Given the description of an element on the screen output the (x, y) to click on. 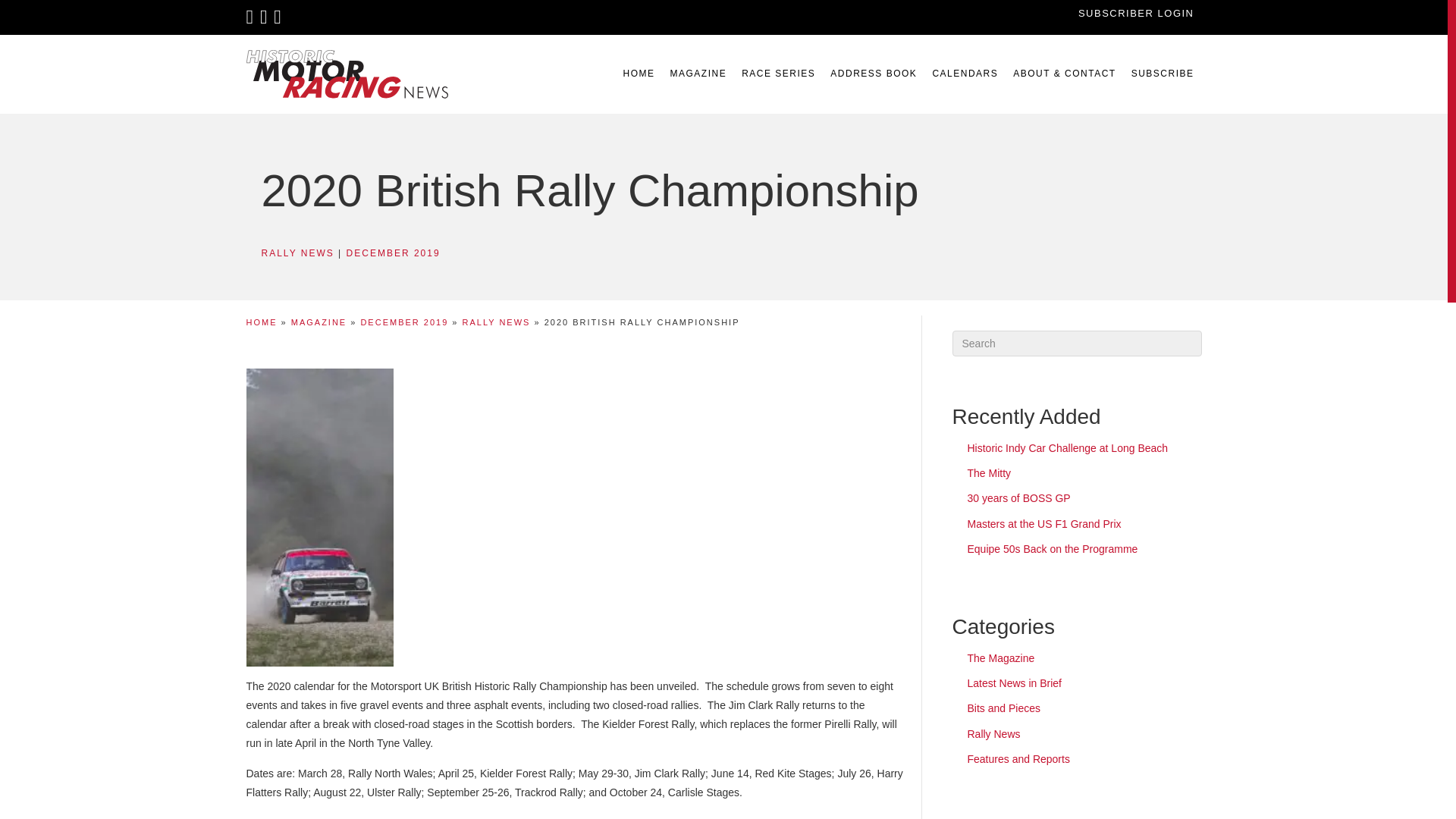
HOME (261, 321)
HOME (638, 74)
RACE SERIES (777, 74)
Rally News (994, 734)
CALENDARS (965, 74)
DECEMBER 2019 (393, 253)
RALLY NEWS (296, 253)
Bits and Pieces (1004, 707)
MAGAZINE (697, 74)
Historic Indy Car Challenge at Long Beach (1068, 448)
